Given the description of an element on the screen output the (x, y) to click on. 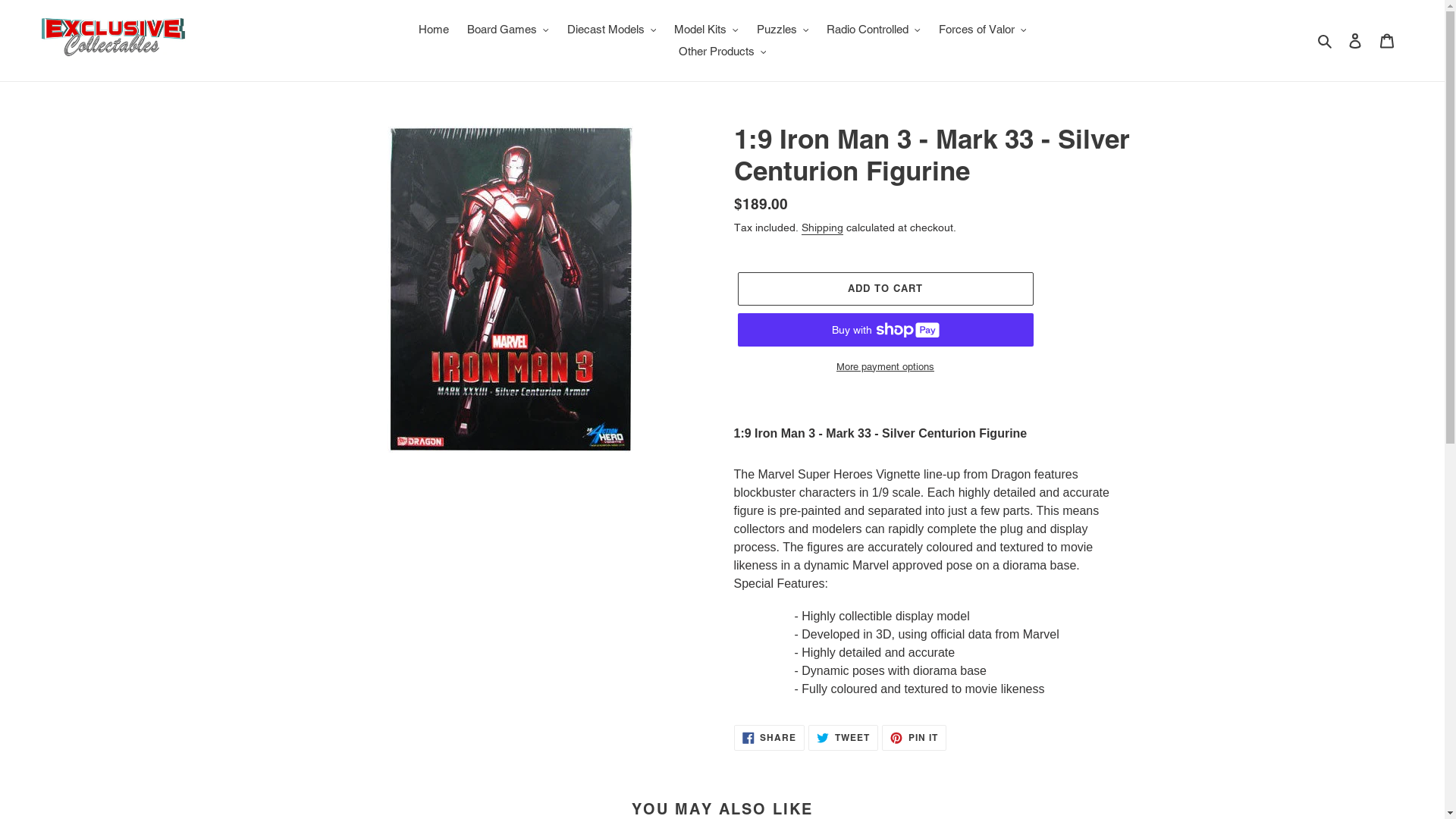
Model Kits Element type: text (706, 29)
ADD TO CART Element type: text (884, 288)
PIN IT
PIN ON PINTEREST Element type: text (913, 737)
More payment options Element type: text (884, 366)
Forces of Valor Element type: text (982, 29)
Shipping Element type: text (821, 228)
Diecast Models Element type: text (611, 29)
TWEET
TWEET ON TWITTER Element type: text (843, 737)
Home Element type: text (433, 29)
Other Products Element type: text (722, 51)
SHARE
SHARE ON FACEBOOK Element type: text (769, 737)
Cart Element type: text (1386, 40)
Log in Element type: text (1355, 40)
Puzzles Element type: text (782, 29)
Radio Controlled Element type: text (873, 29)
Board Games Element type: text (507, 29)
Search Element type: text (1325, 40)
